Given the description of an element on the screen output the (x, y) to click on. 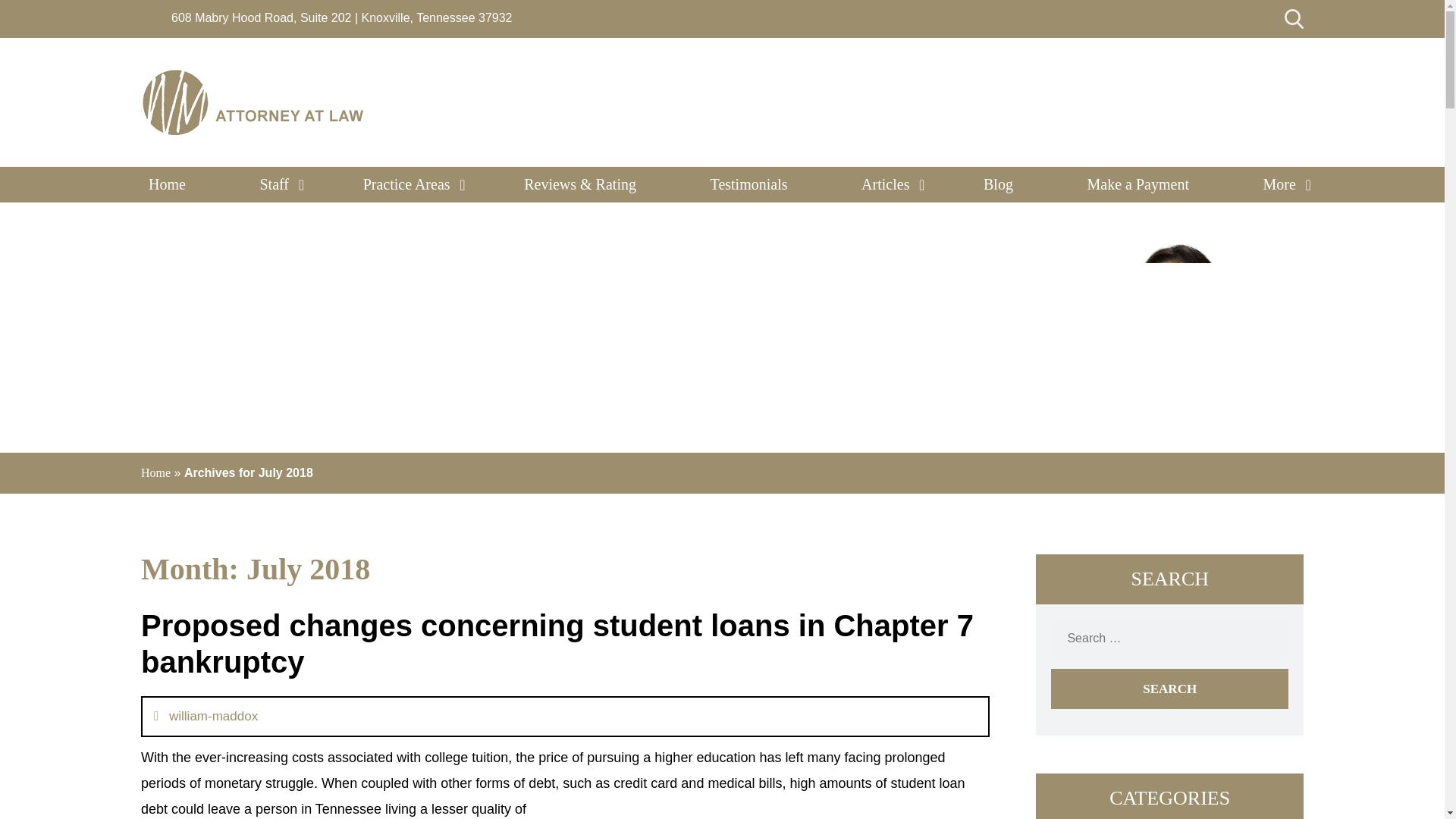
865-293-4953 (1199, 120)
Search (1169, 689)
Practice Areas (406, 184)
Search (1169, 689)
Home (167, 184)
Staff (274, 184)
